Given the description of an element on the screen output the (x, y) to click on. 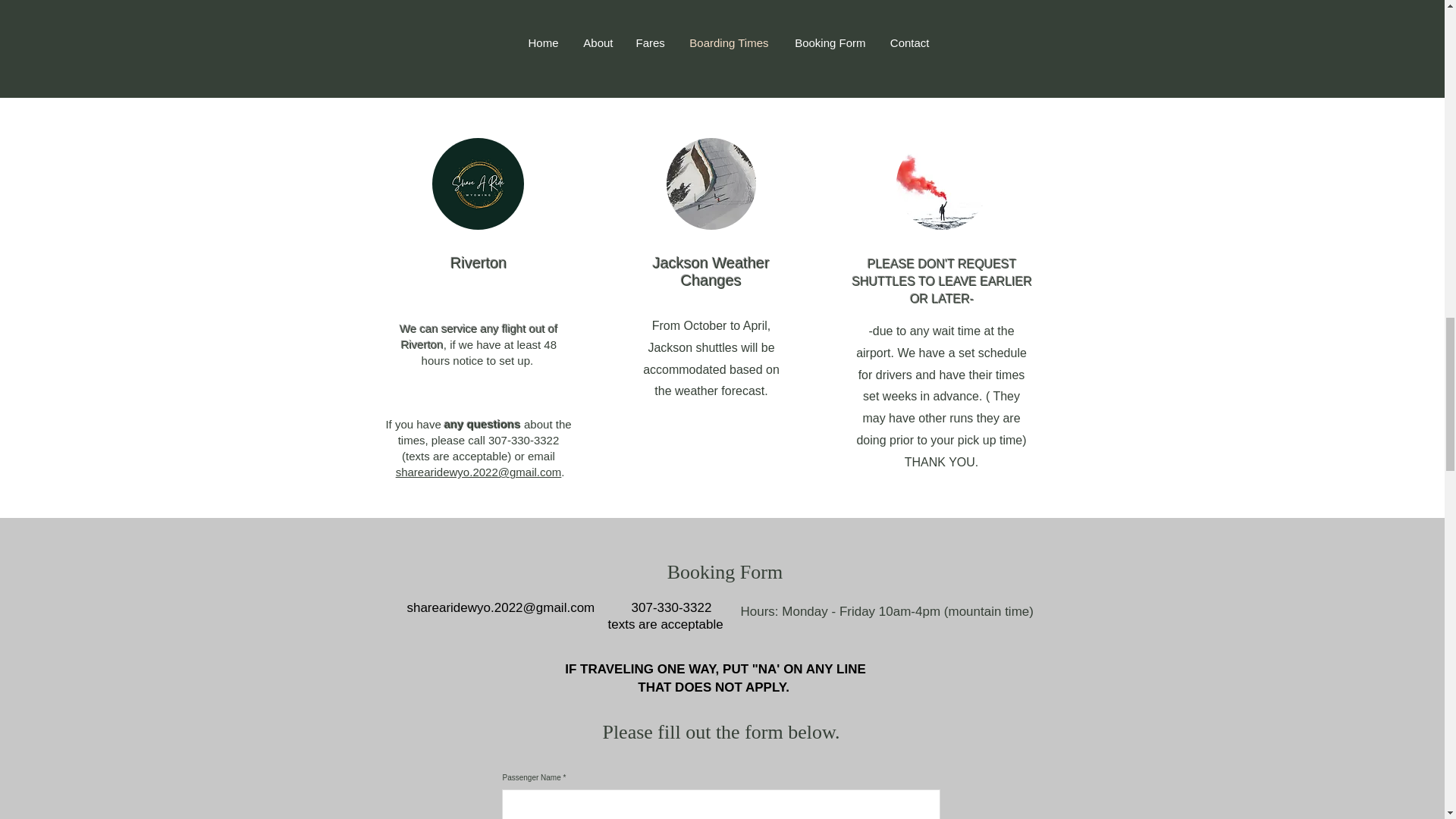
307-330-3322 (671, 607)
